Given the description of an element on the screen output the (x, y) to click on. 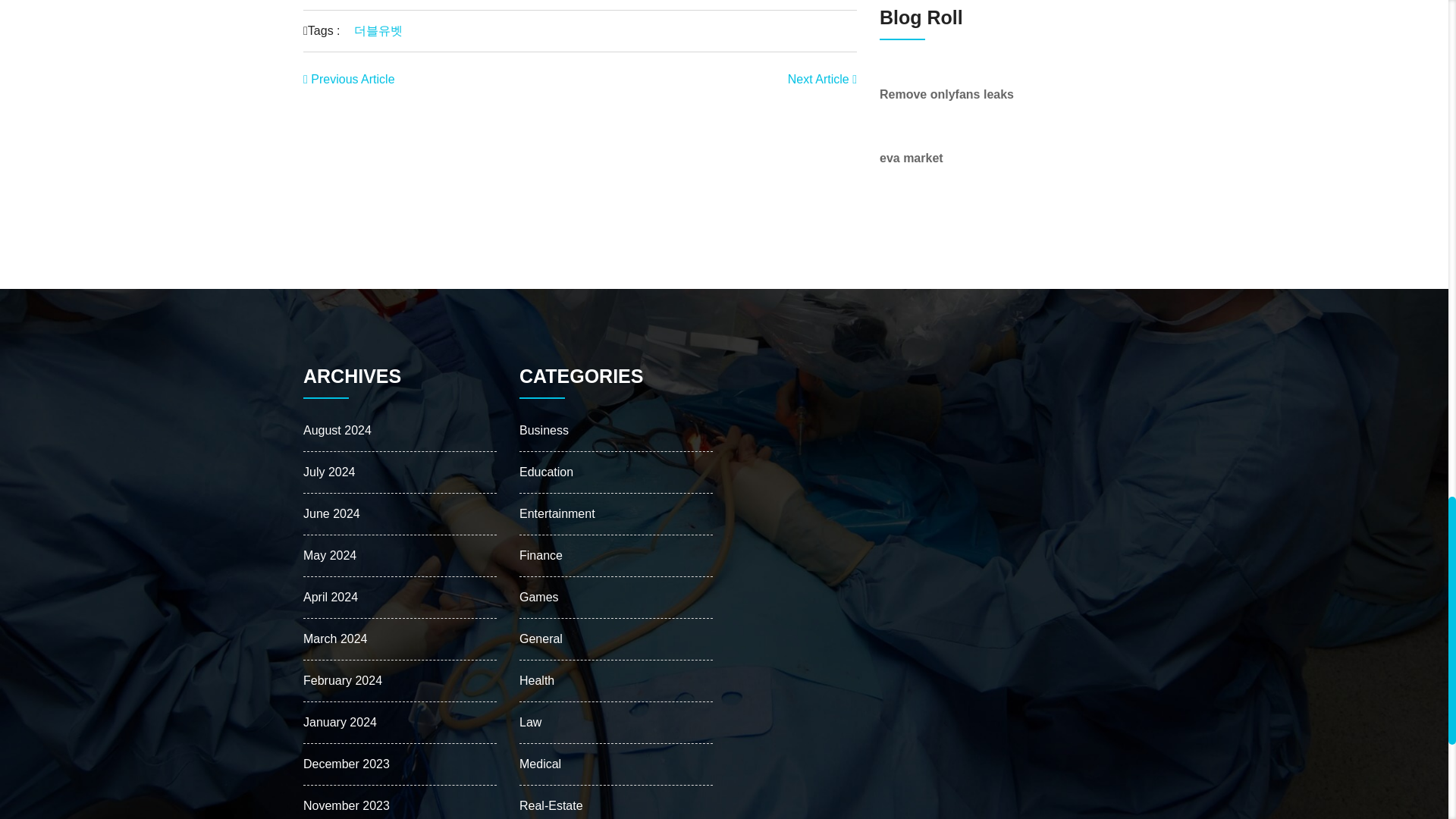
Next Article (822, 78)
June 2024 (330, 513)
eva market (911, 157)
Previous Article (348, 78)
July 2024 (328, 472)
Remove onlyfans leaks (946, 93)
August 2024 (336, 430)
